Given the description of an element on the screen output the (x, y) to click on. 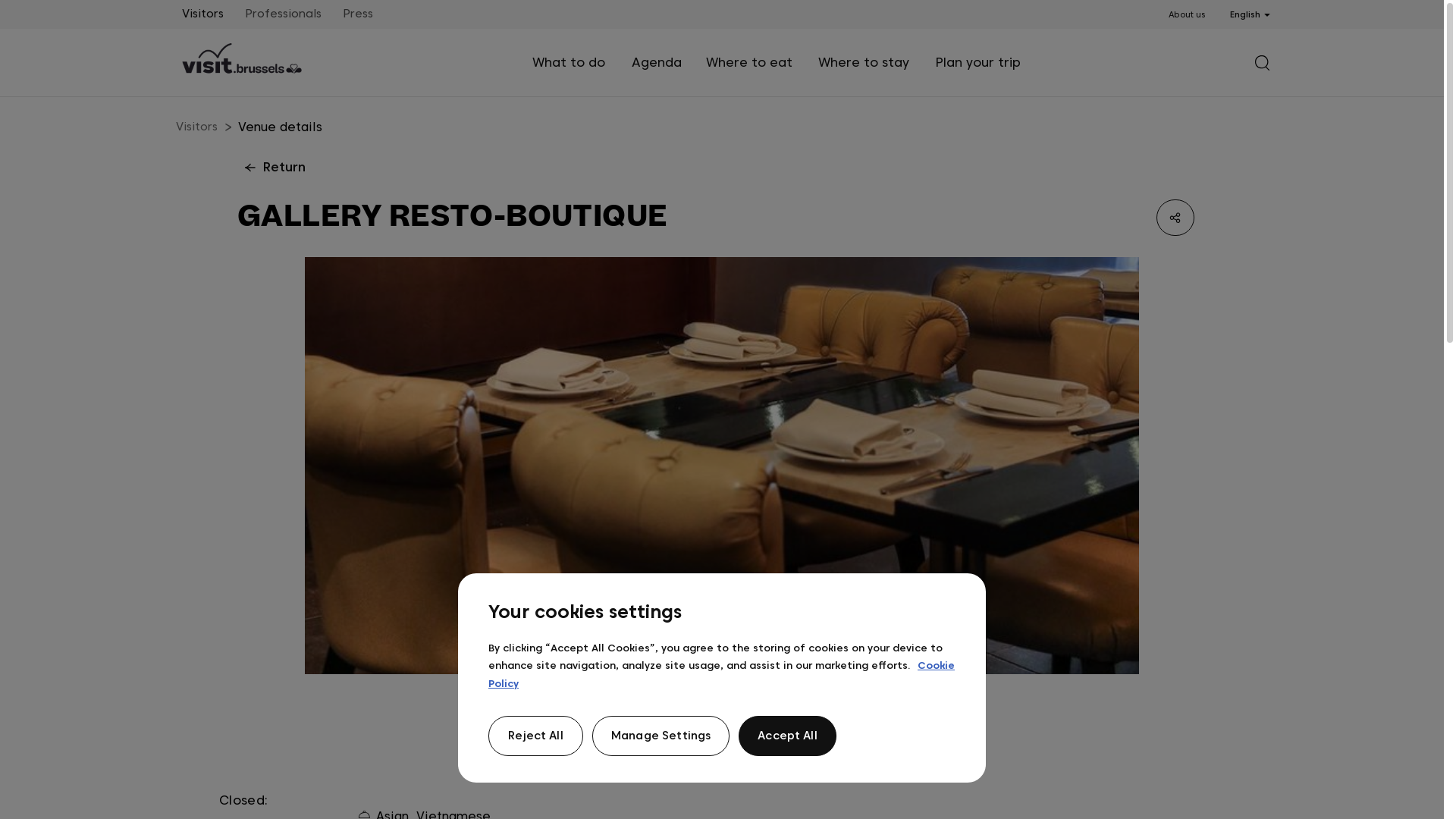
About us Element type: text (1186, 14)
Accept All Element type: text (787, 735)
Press Element type: text (357, 13)
Where to eat Element type: text (749, 62)
Reject All Element type: text (535, 735)
What to do Element type: text (569, 62)
Where to stay Element type: text (863, 62)
Cookie Policy Element type: text (721, 673)
Agenda Element type: text (655, 62)
Visitors Element type: text (196, 126)
Manage Settings Element type: text (660, 735)
English Element type: text (1252, 14)
Return Element type: text (271, 168)
Professionals Element type: text (282, 13)
Plan your trip Element type: text (978, 62)
Visitors Element type: text (202, 13)
